Given the description of an element on the screen output the (x, y) to click on. 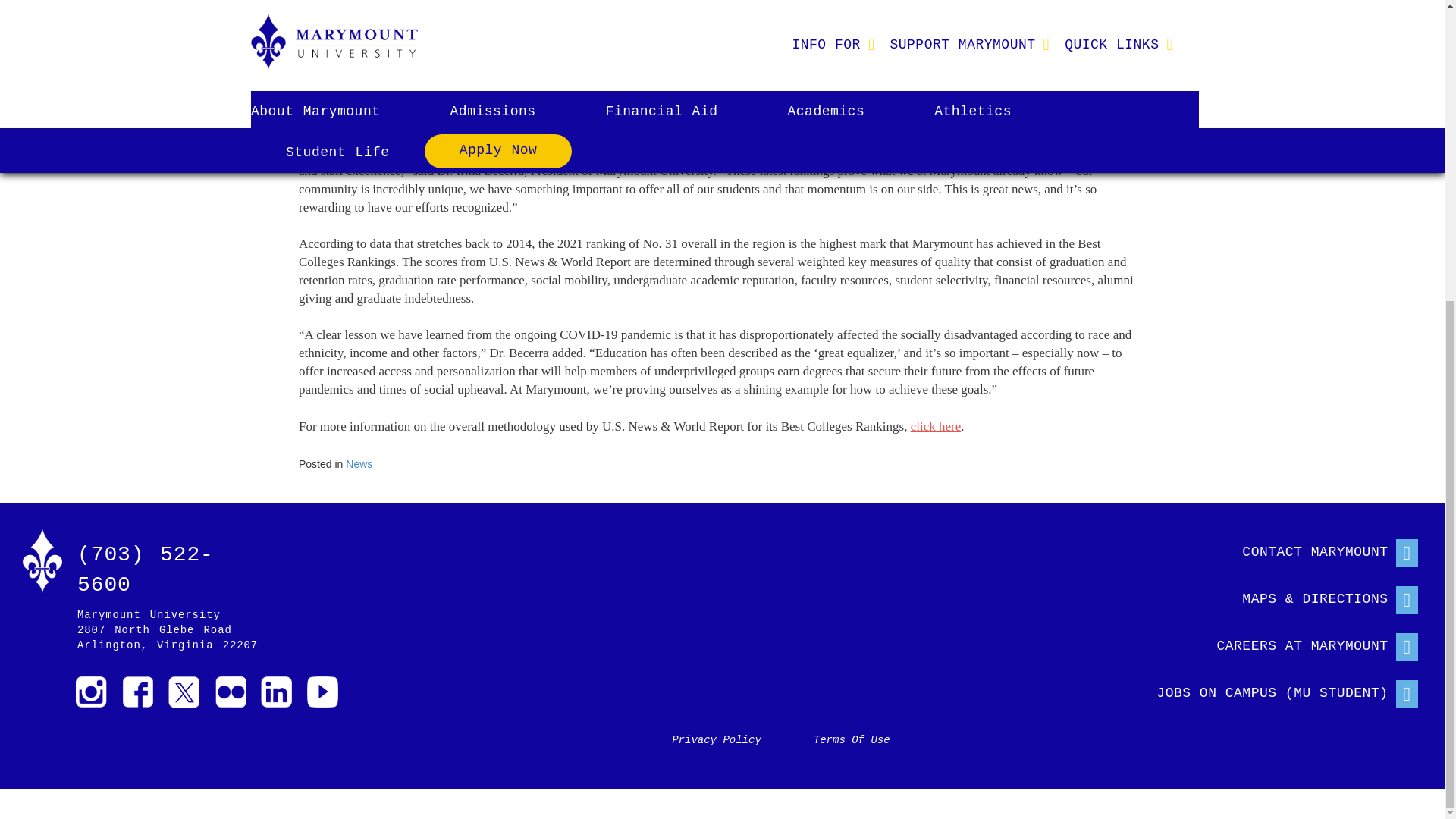
Contact Us (1271, 549)
Youtube (322, 691)
Careers at MU (1271, 643)
facebook (137, 691)
instagram (90, 691)
twitter (183, 691)
flickr (230, 691)
linkedin (276, 691)
